Given the description of an element on the screen output the (x, y) to click on. 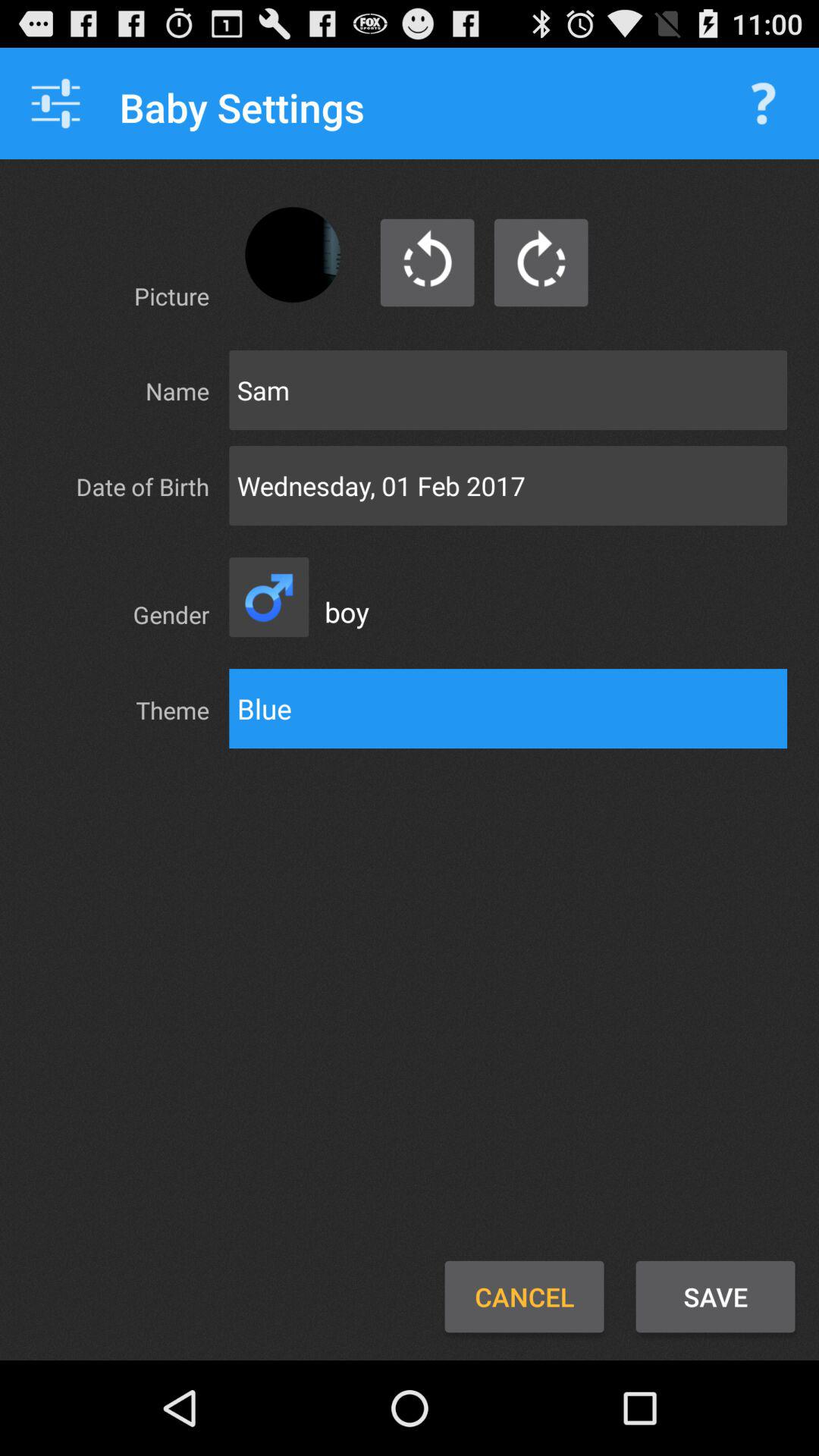
tu pequeo siempre vigilado (541, 262)
